Given the description of an element on the screen output the (x, y) to click on. 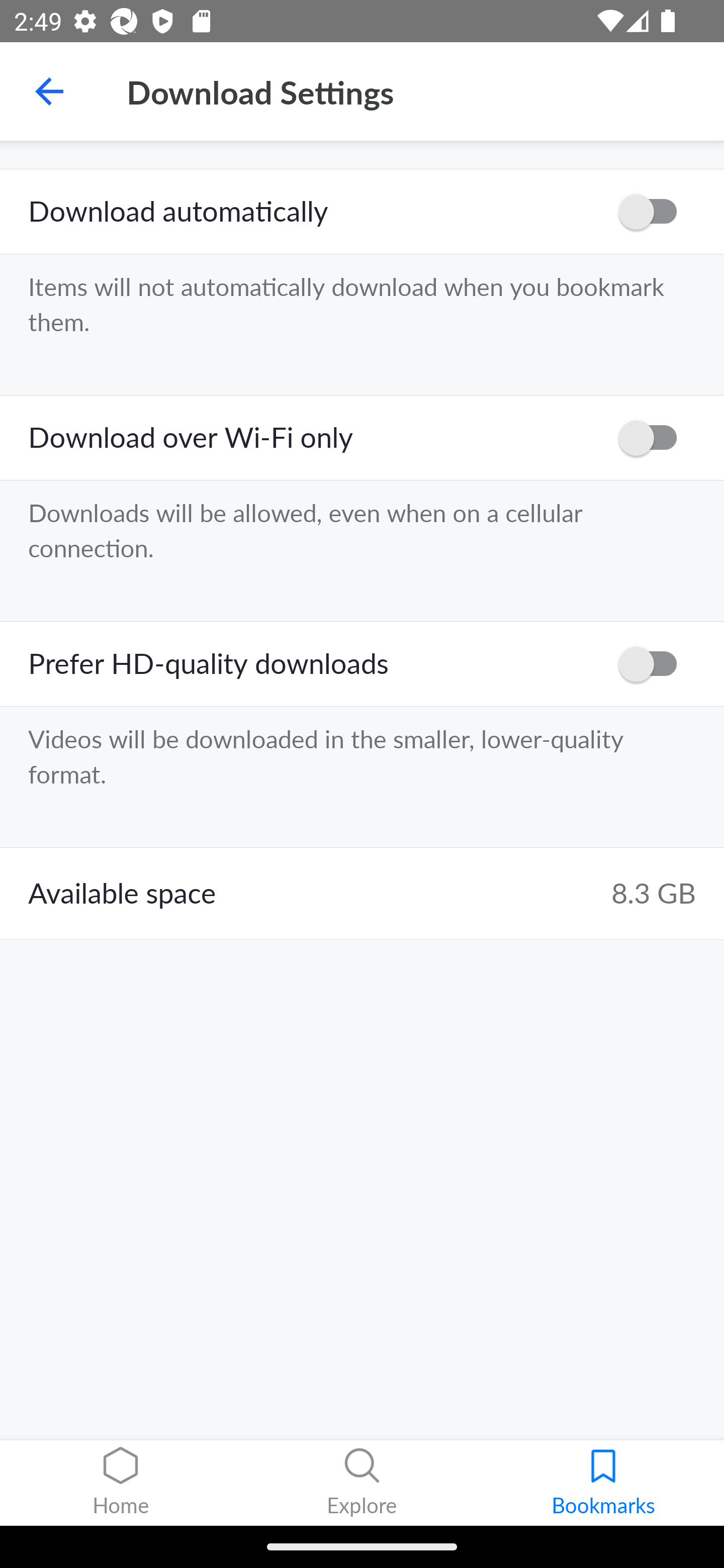
Navigate up (49, 91)
OFF (653, 211)
OFF (653, 437)
OFF (653, 663)
Home (120, 1482)
Explore (361, 1482)
Bookmarks (603, 1482)
